Given the description of an element on the screen output the (x, y) to click on. 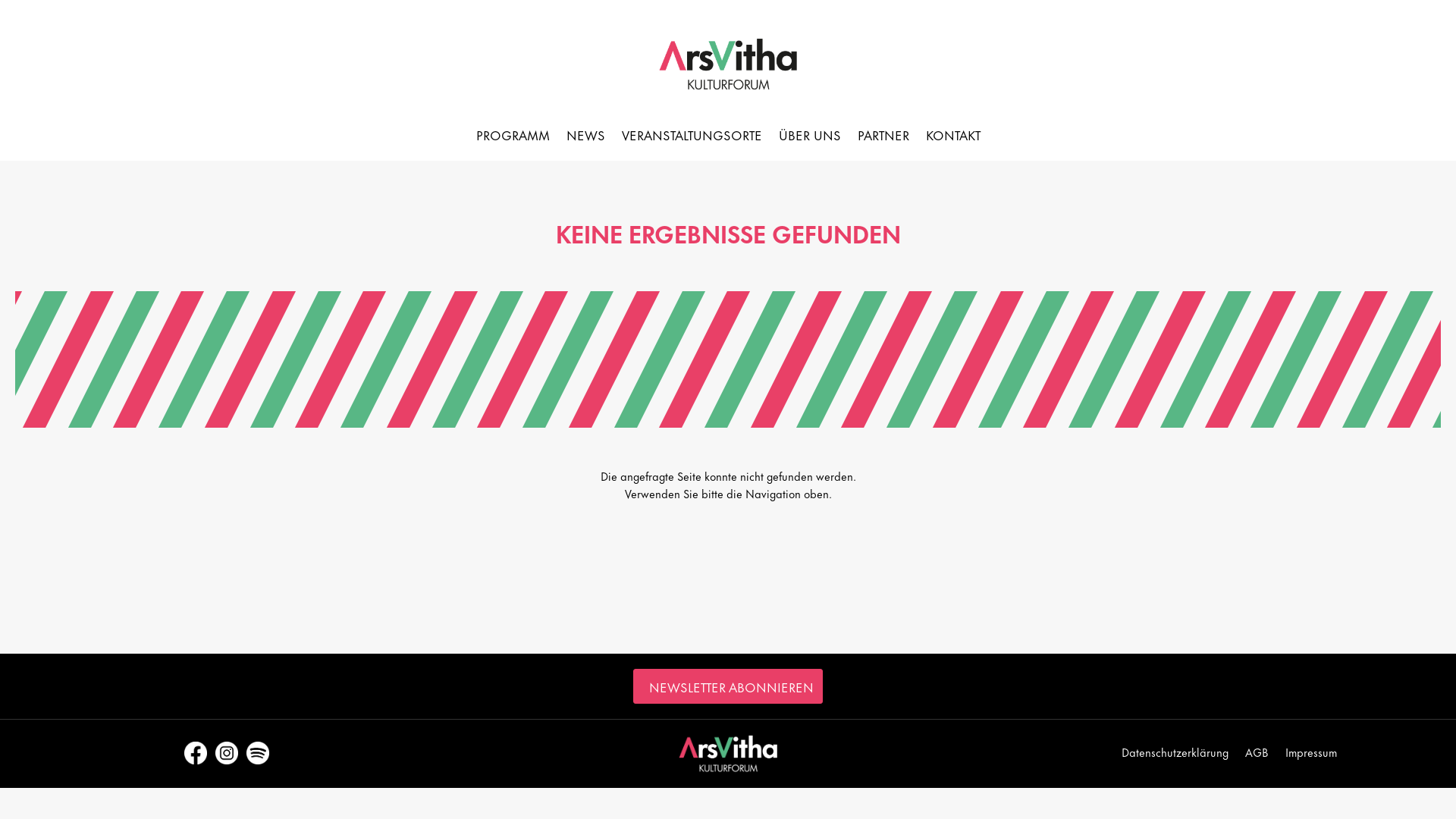
Newsletter abonnieren Element type: text (727, 685)
PROGRAMM Element type: text (512, 136)
NEWS Element type: text (584, 136)
logo Element type: hover (727, 64)
KONTAKT Element type: text (952, 136)
AGB Element type: text (1256, 754)
logo_dark Element type: hover (727, 753)
Impressum Element type: text (1310, 754)
VERANSTALTUNGSORTE Element type: text (691, 136)
PARTNER Element type: text (882, 136)
